Given the description of an element on the screen output the (x, y) to click on. 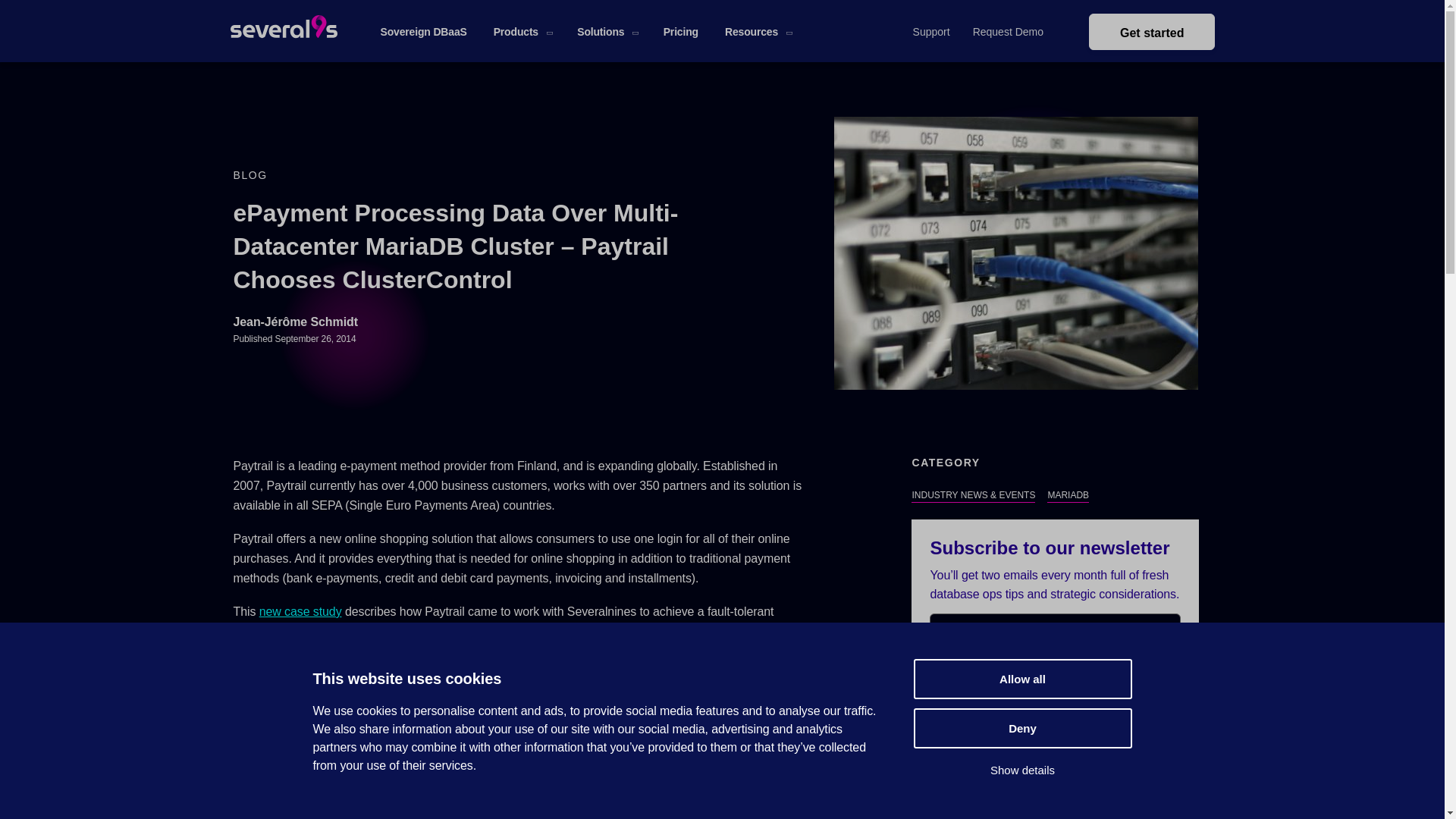
Show details (1021, 769)
Deny (1021, 728)
Allow all (1021, 680)
Subscribe (1055, 691)
